Given the description of an element on the screen output the (x, y) to click on. 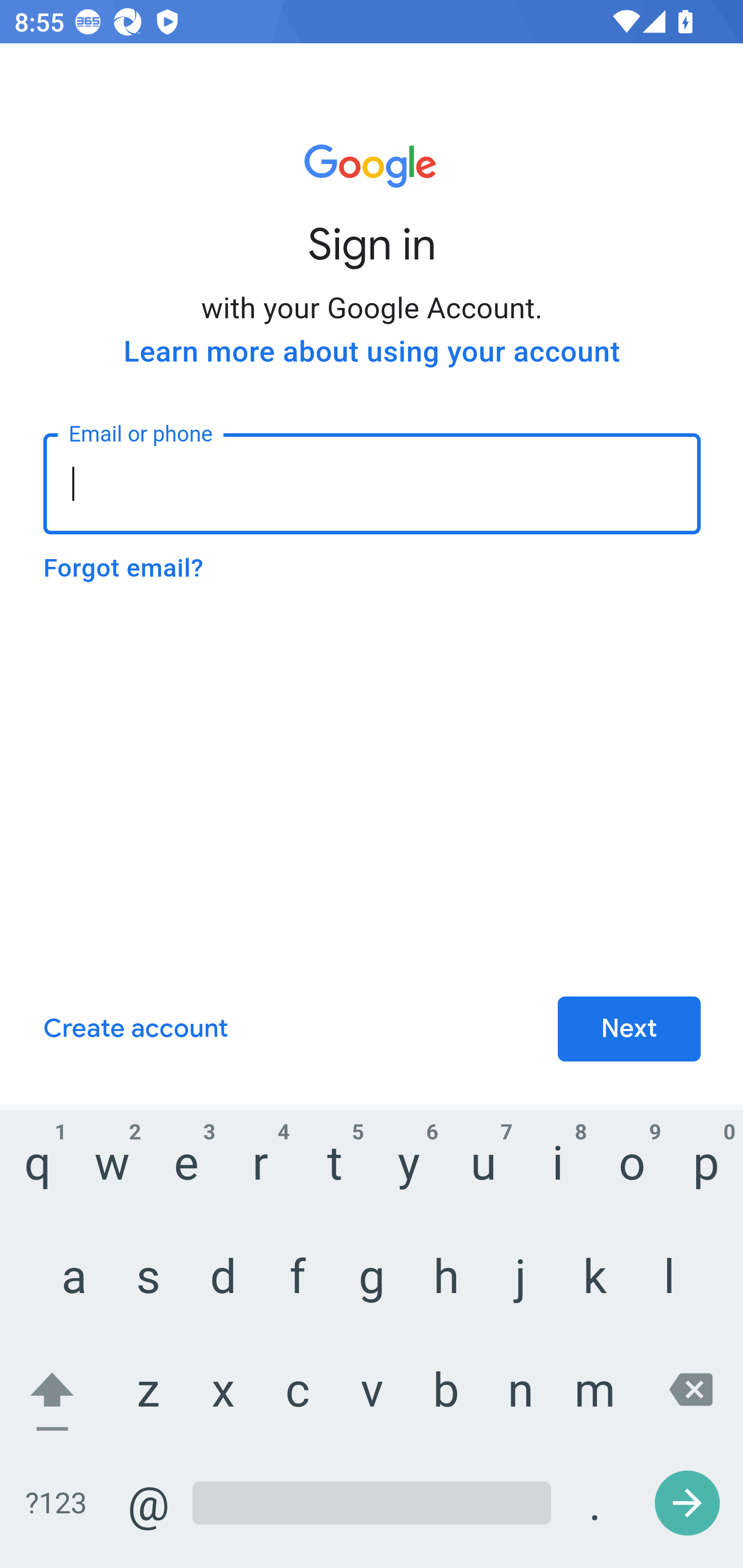
Learn more about using your account (371, 351)
Forgot email? (123, 568)
Create account (134, 1029)
Next (629, 1029)
